Given the description of an element on the screen output the (x, y) to click on. 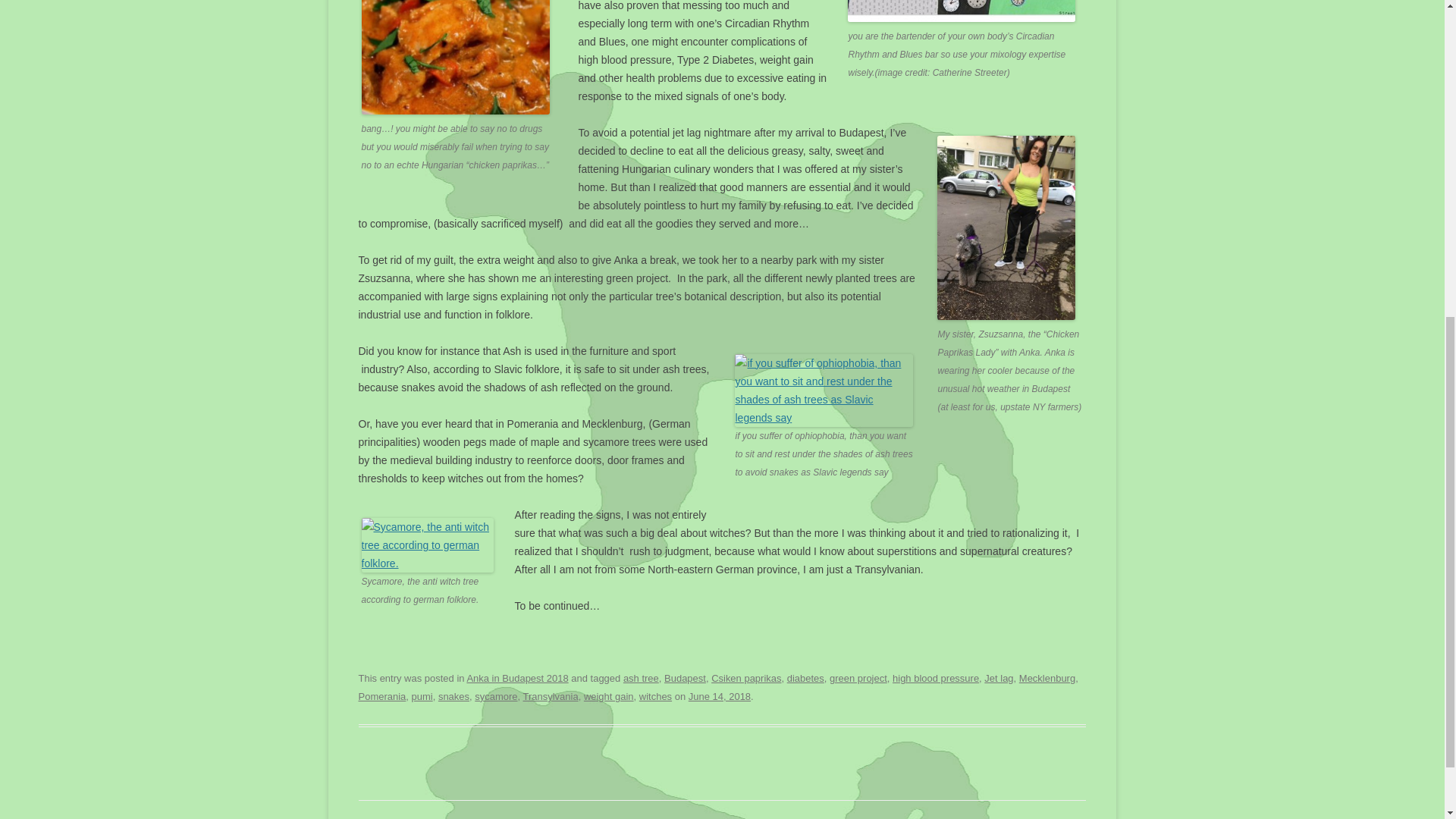
ash tree (641, 677)
Budapest (684, 677)
Anka in Budapest 2018 (516, 677)
June 14, 2018 (719, 696)
Transylvania (550, 696)
sycamore (495, 696)
Csiken paprikas (745, 677)
2:57 pm (719, 696)
Mecklenburg (1047, 677)
weight gain (608, 696)
